Given the description of an element on the screen output the (x, y) to click on. 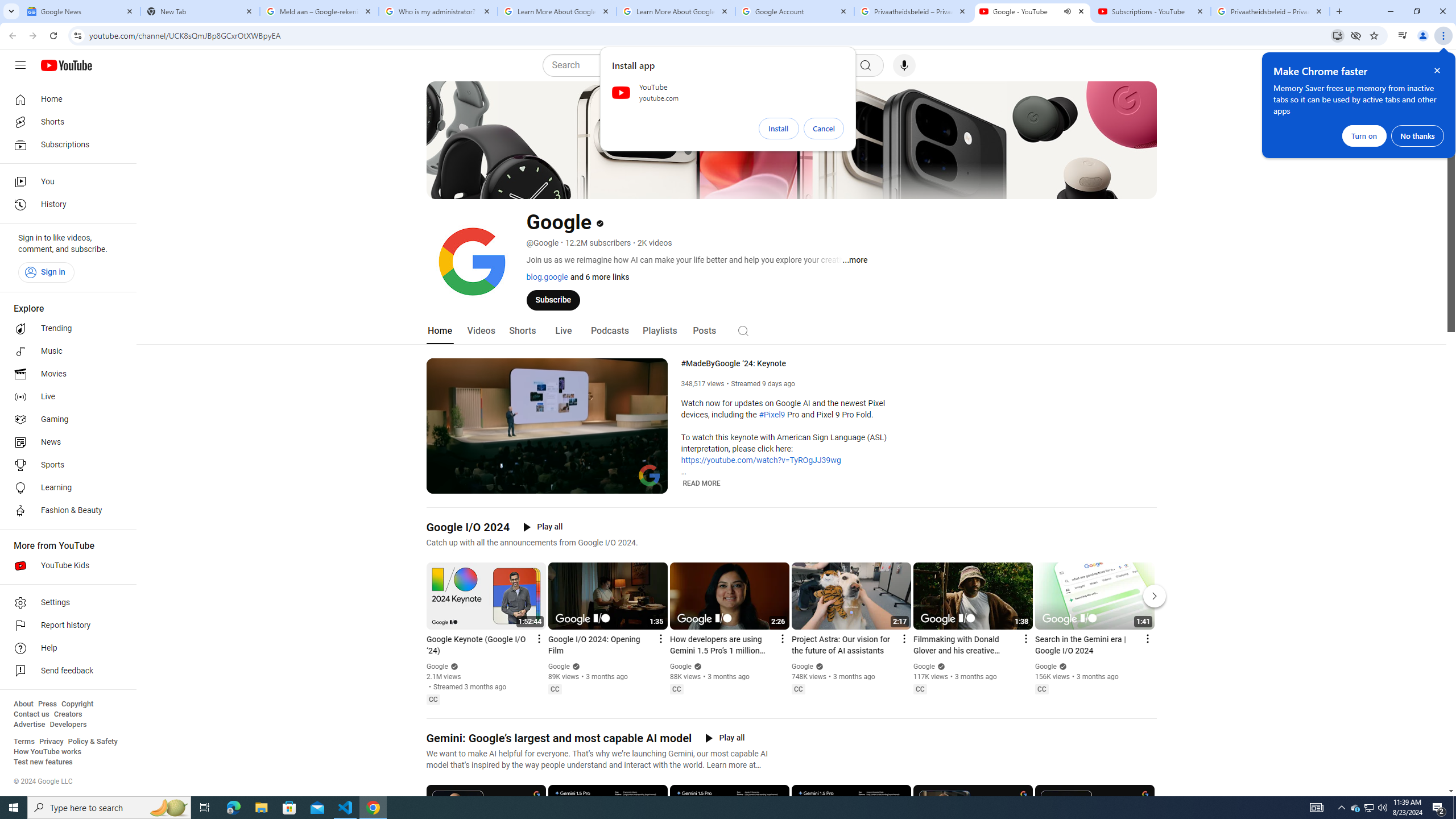
History (64, 204)
Shorts (64, 121)
News (64, 441)
Movies (64, 373)
Developers (68, 724)
No thanks (1417, 135)
Test new features (42, 761)
How YouTube works (47, 751)
